Given the description of an element on the screen output the (x, y) to click on. 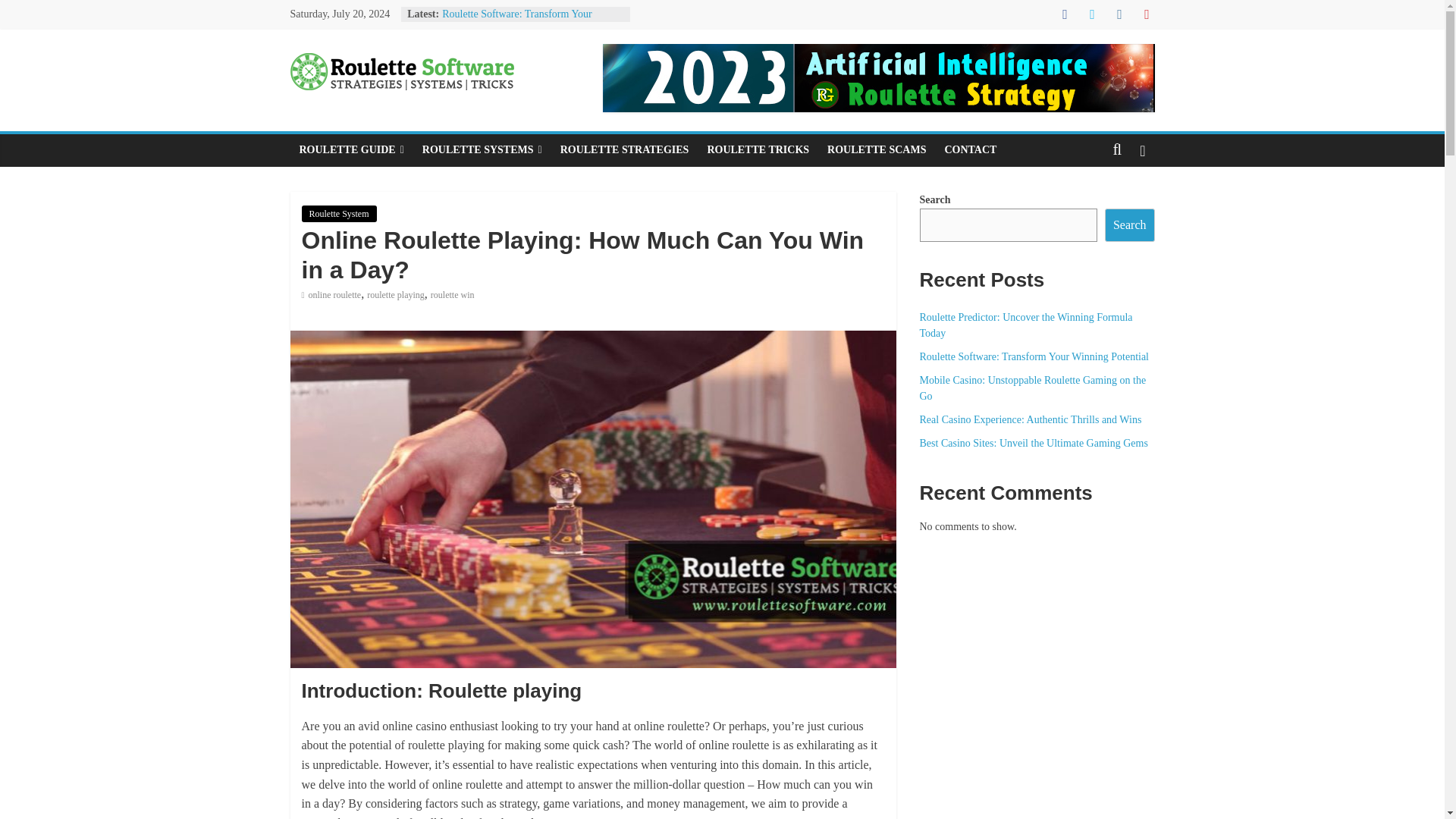
roulette win (452, 294)
ROULETTE TRICKS (757, 150)
ROULETTE STRATEGIES (624, 150)
Roulette Software: Transform Your Winning Potential (517, 21)
online roulette (334, 294)
ROULETTE GUIDE (350, 150)
CONTACT (970, 150)
ROULETTE SYSTEMS (482, 150)
ROULETTE SCAMS (876, 150)
Roulette Software: Transform Your Winning Potential (517, 21)
Roulette System (339, 213)
roulette playing (395, 294)
